Given the description of an element on the screen output the (x, y) to click on. 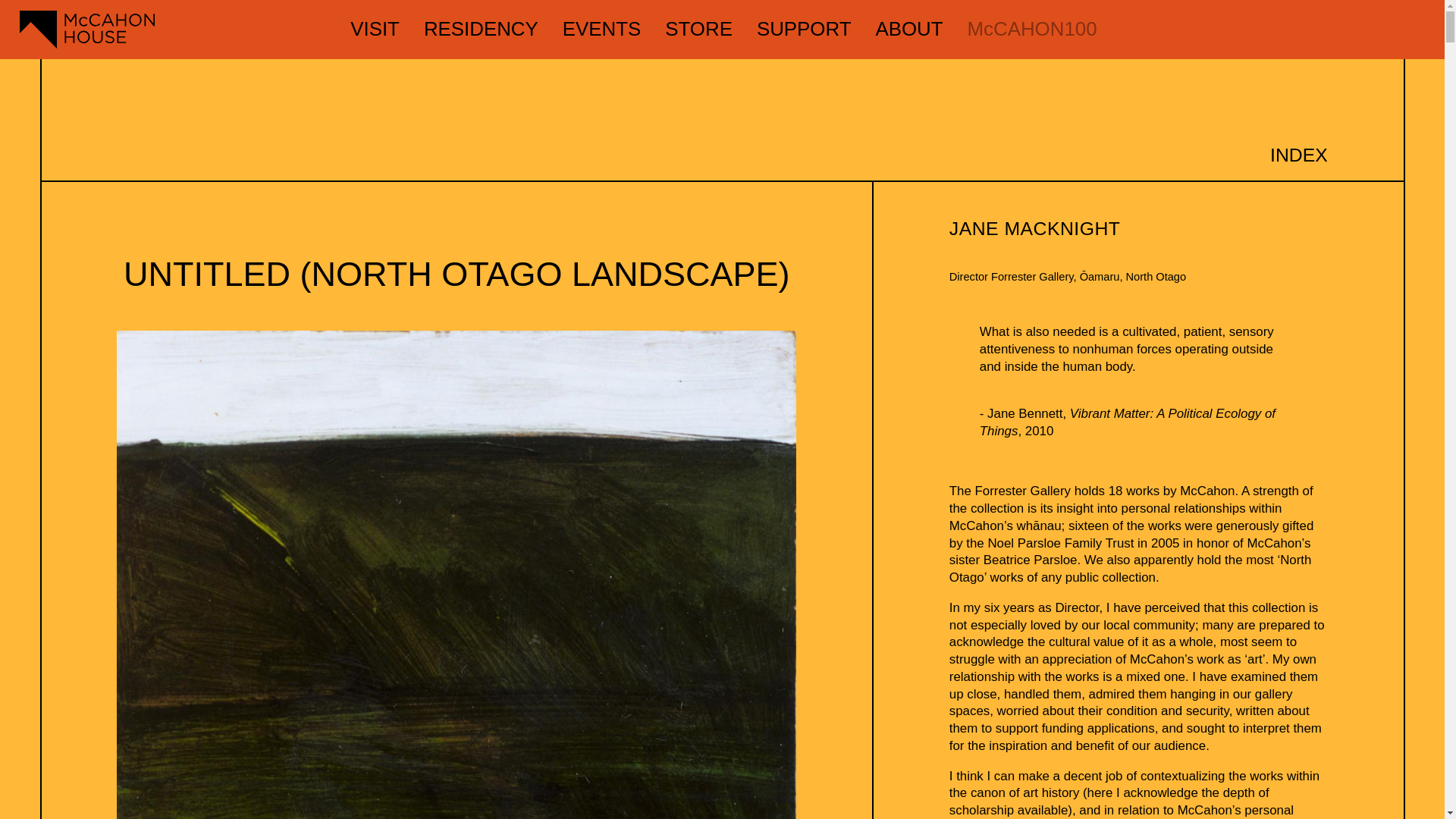
EVENTS (601, 28)
McCAHON100 (1032, 28)
SUPPORT (804, 28)
STORE (698, 28)
ABOUT (908, 28)
VISIT (374, 28)
Group Copy Created with Sketch. (87, 29)
RESIDENCY (480, 28)
Group Copy Created with Sketch. (179, 29)
